Given the description of an element on the screen output the (x, y) to click on. 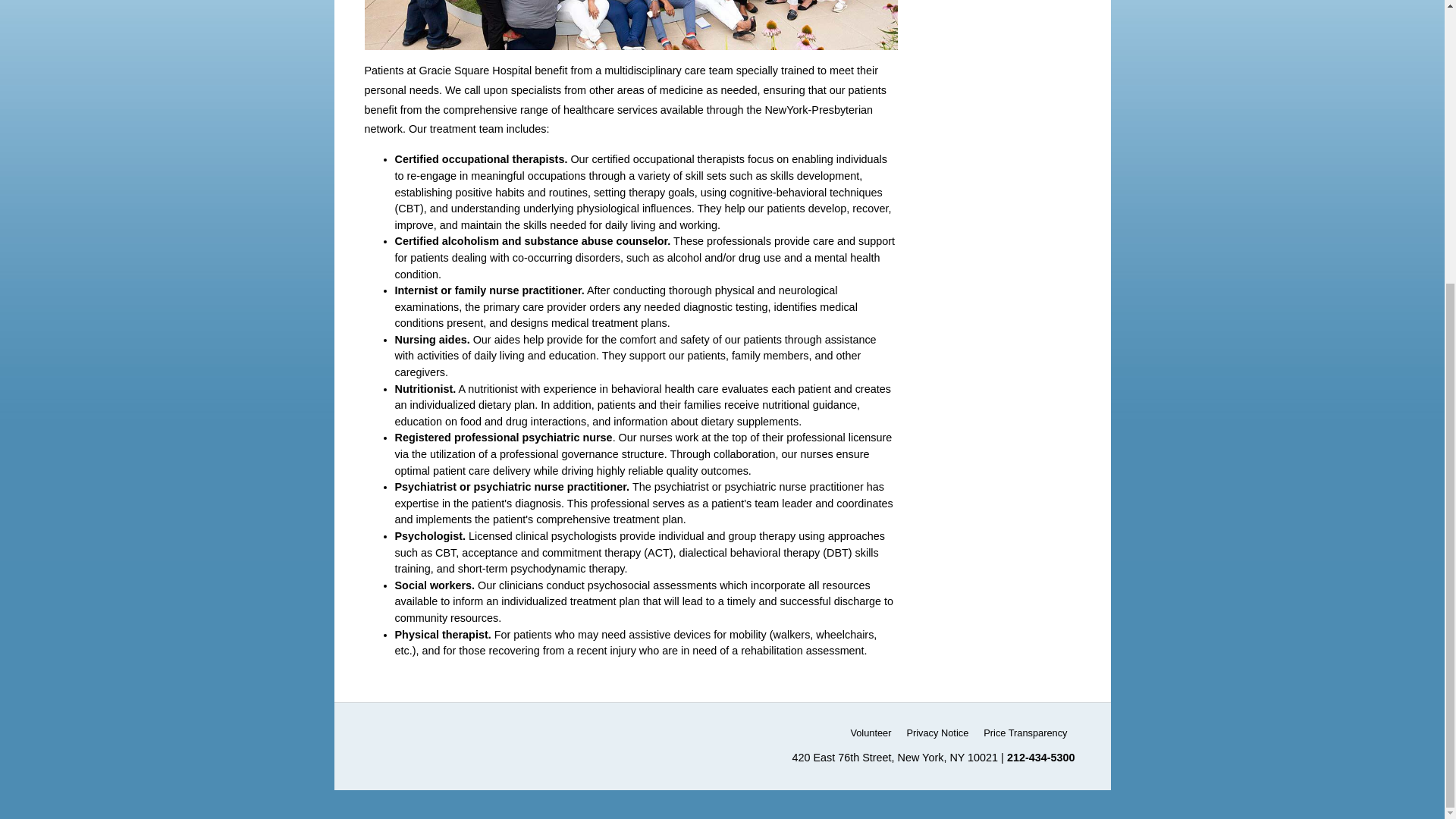
Price Transparency (1025, 732)
Privacy Notice (936, 732)
Volunteer (870, 732)
